Given the description of an element on the screen output the (x, y) to click on. 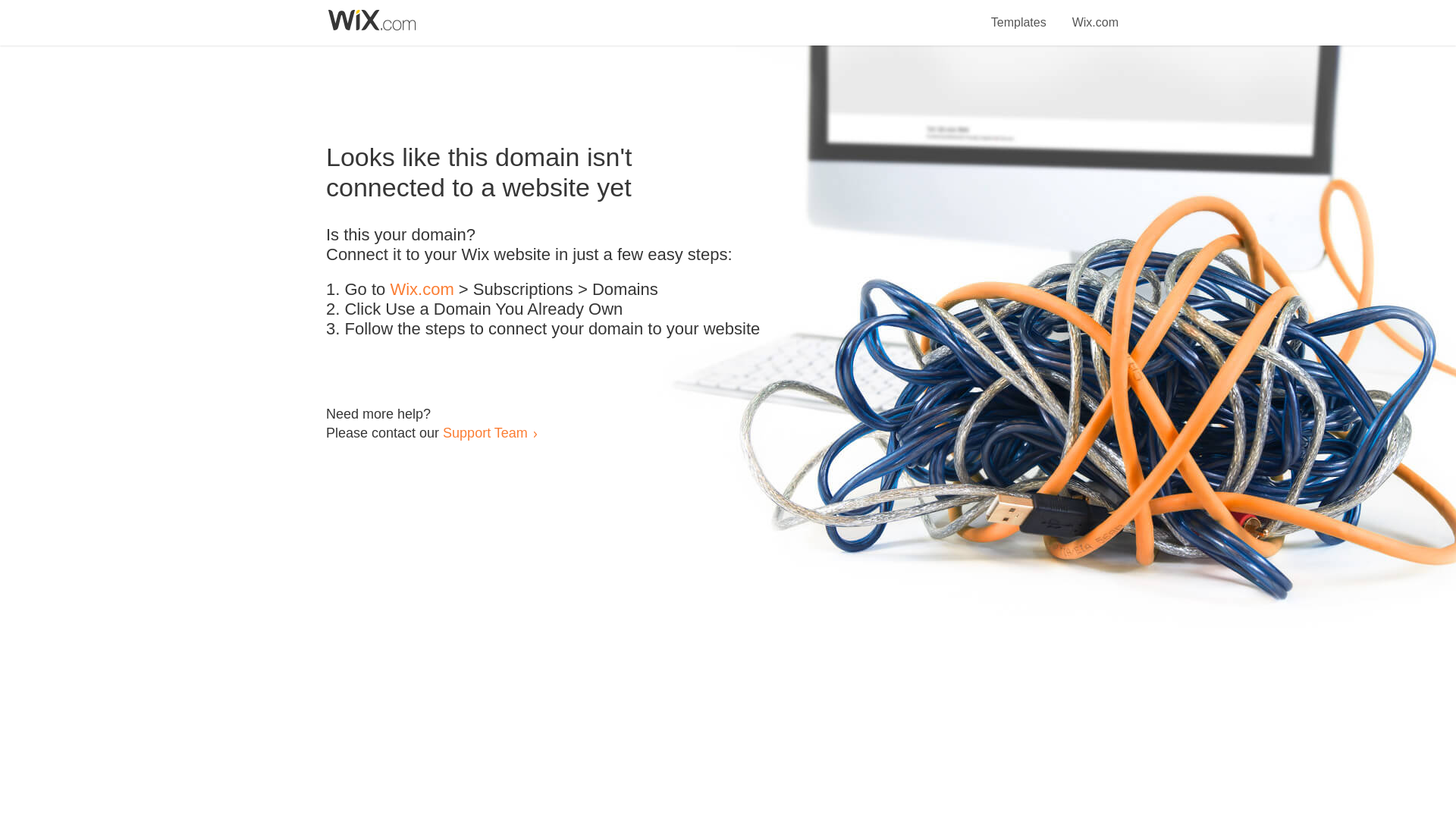
Support Team (484, 432)
Templates (1018, 14)
Wix.com (421, 289)
Wix.com (1095, 14)
